Given the description of an element on the screen output the (x, y) to click on. 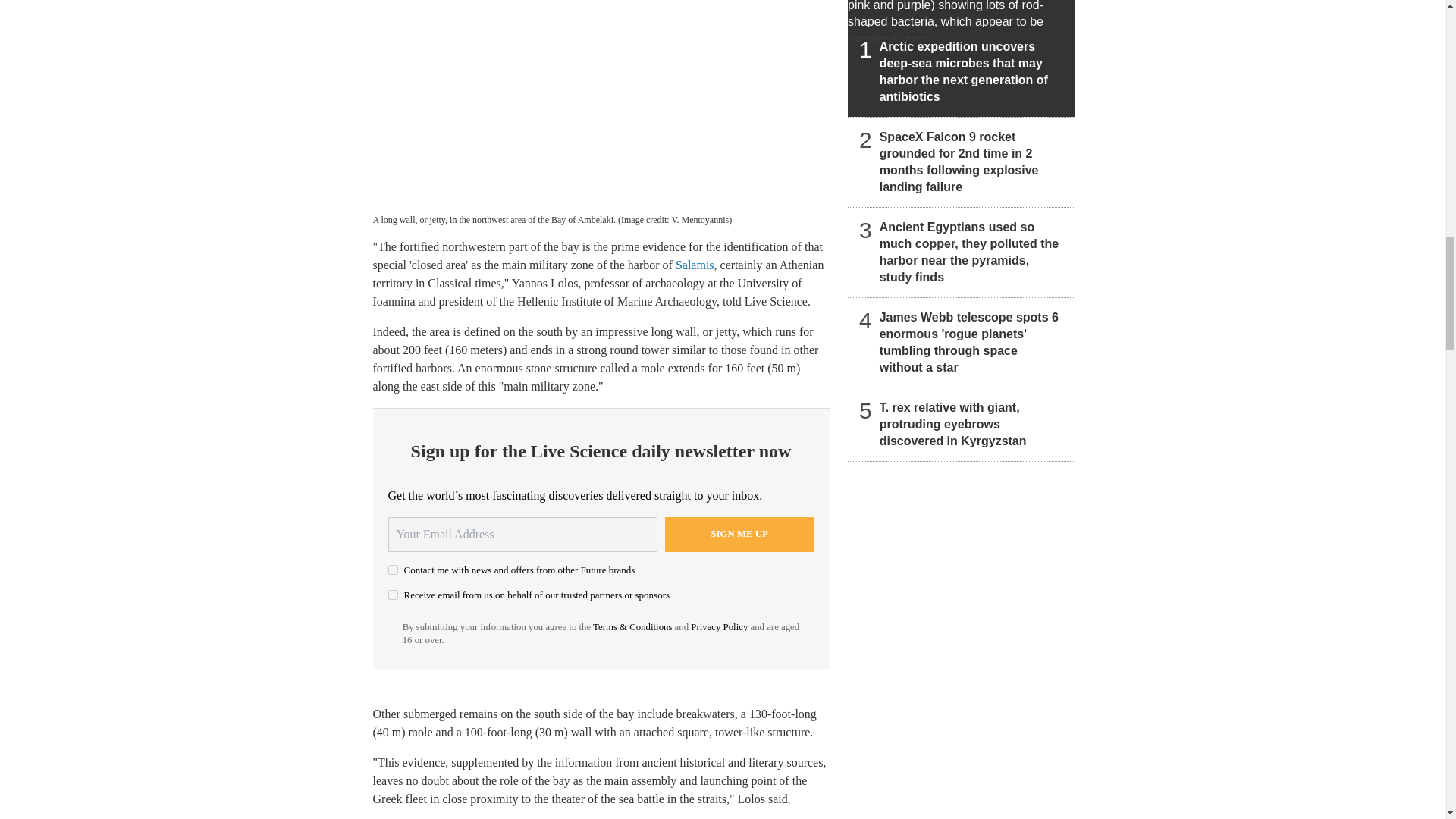
on (392, 594)
on (392, 569)
Sign me up (739, 534)
